Given the description of an element on the screen output the (x, y) to click on. 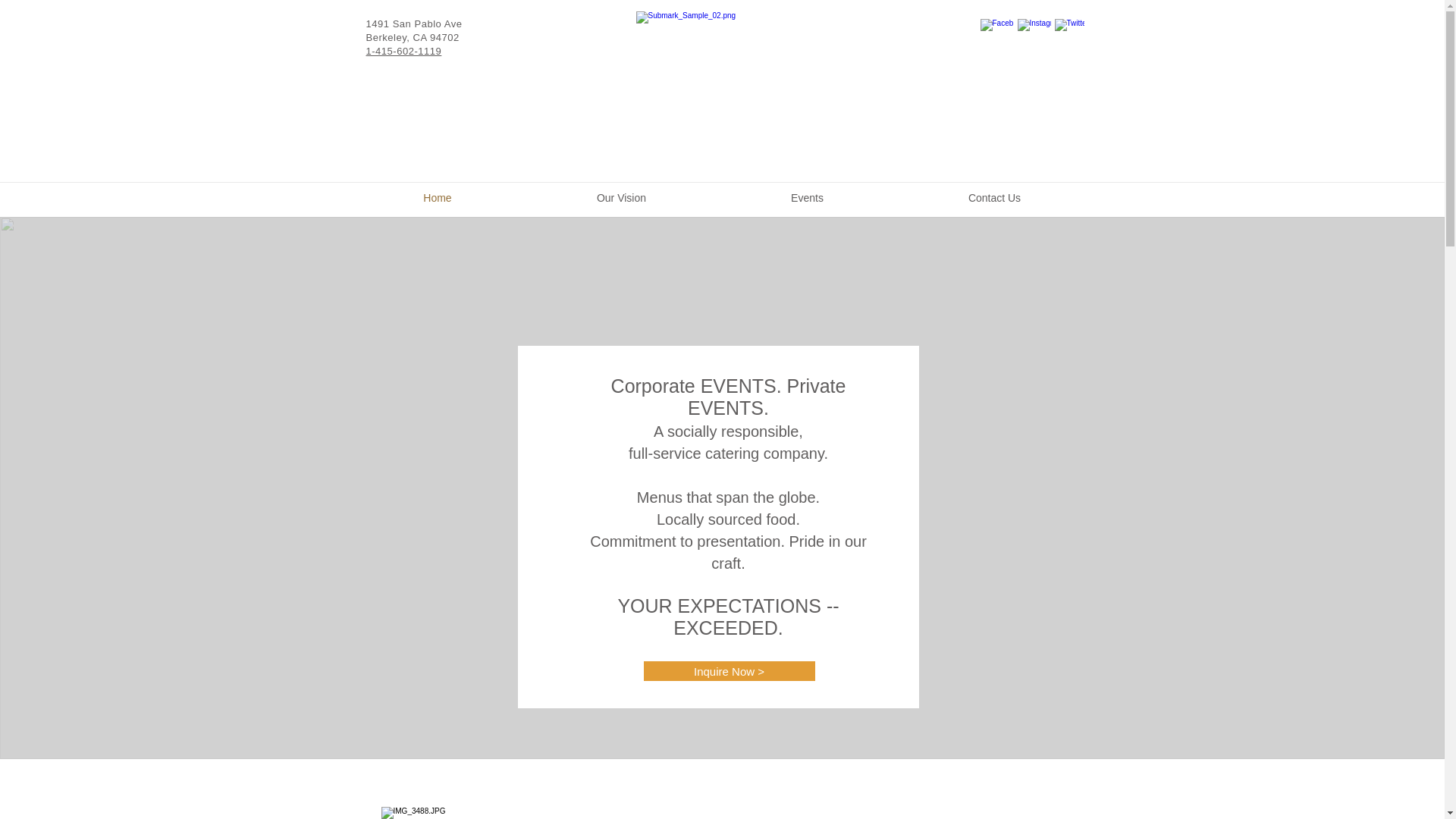
Contact Us (994, 197)
Home (437, 197)
Our Vision (621, 197)
Events (807, 197)
